Given the description of an element on the screen output the (x, y) to click on. 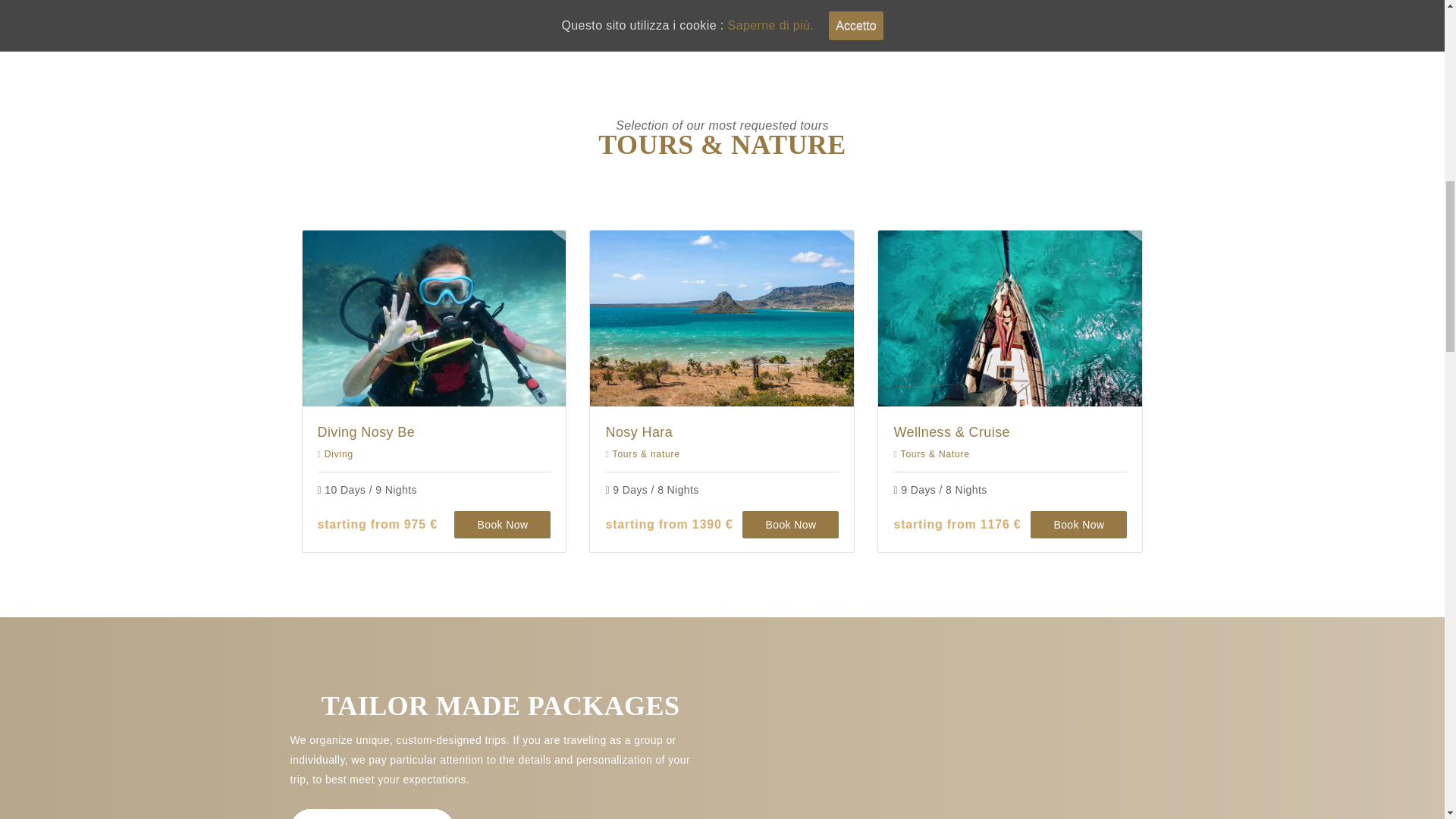
Book Now (790, 524)
Book Now (502, 524)
Diving (338, 453)
Diving Nosy Be (365, 432)
Nosy Hara (638, 432)
